Given the description of an element on the screen output the (x, y) to click on. 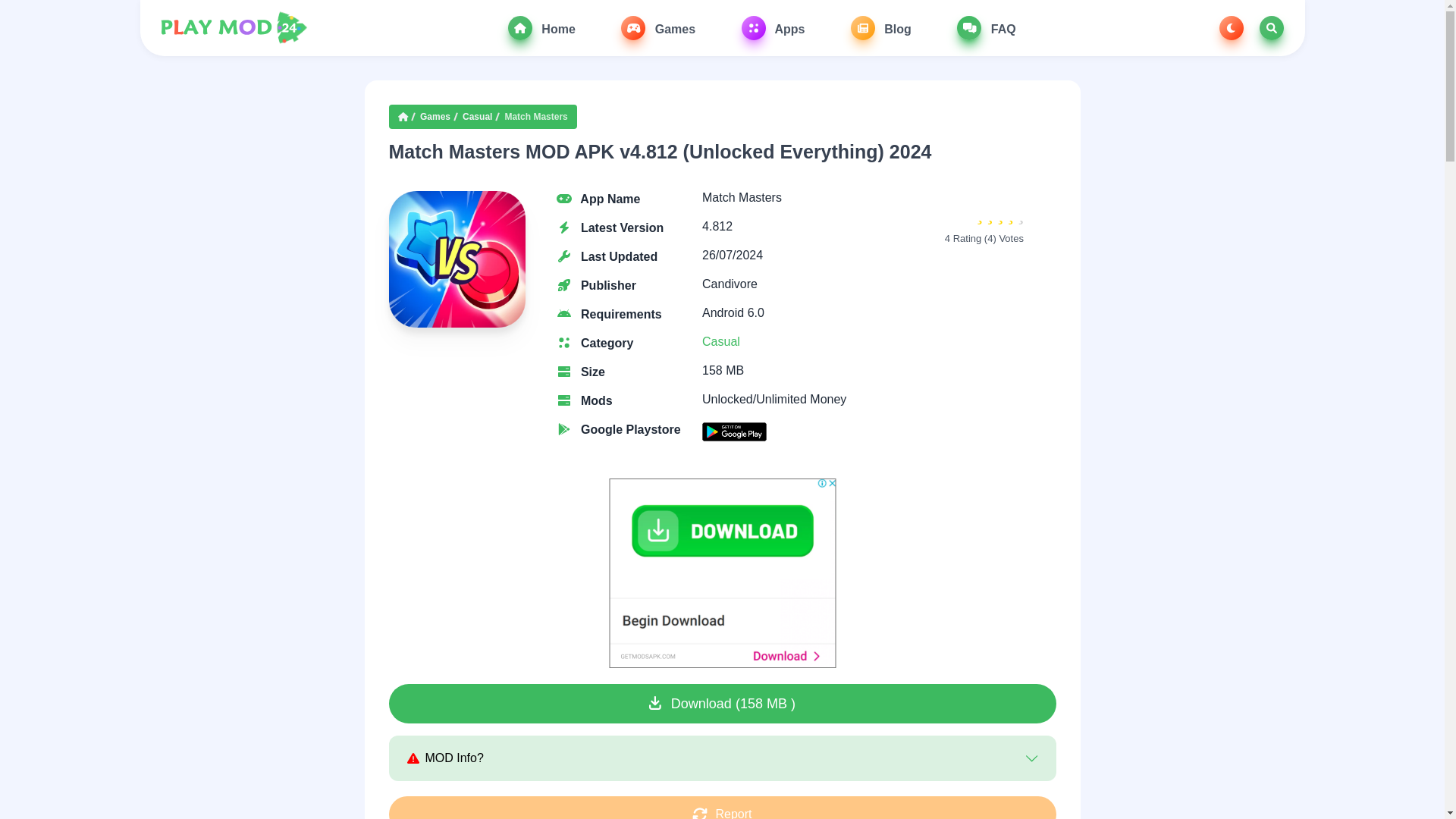
Home (541, 27)
Blog (880, 27)
Games (435, 116)
Report (721, 807)
Games (658, 27)
Casual (720, 341)
Search (1270, 27)
MOD Info? (721, 758)
Casual (477, 116)
Apps (773, 27)
